Given the description of an element on the screen output the (x, y) to click on. 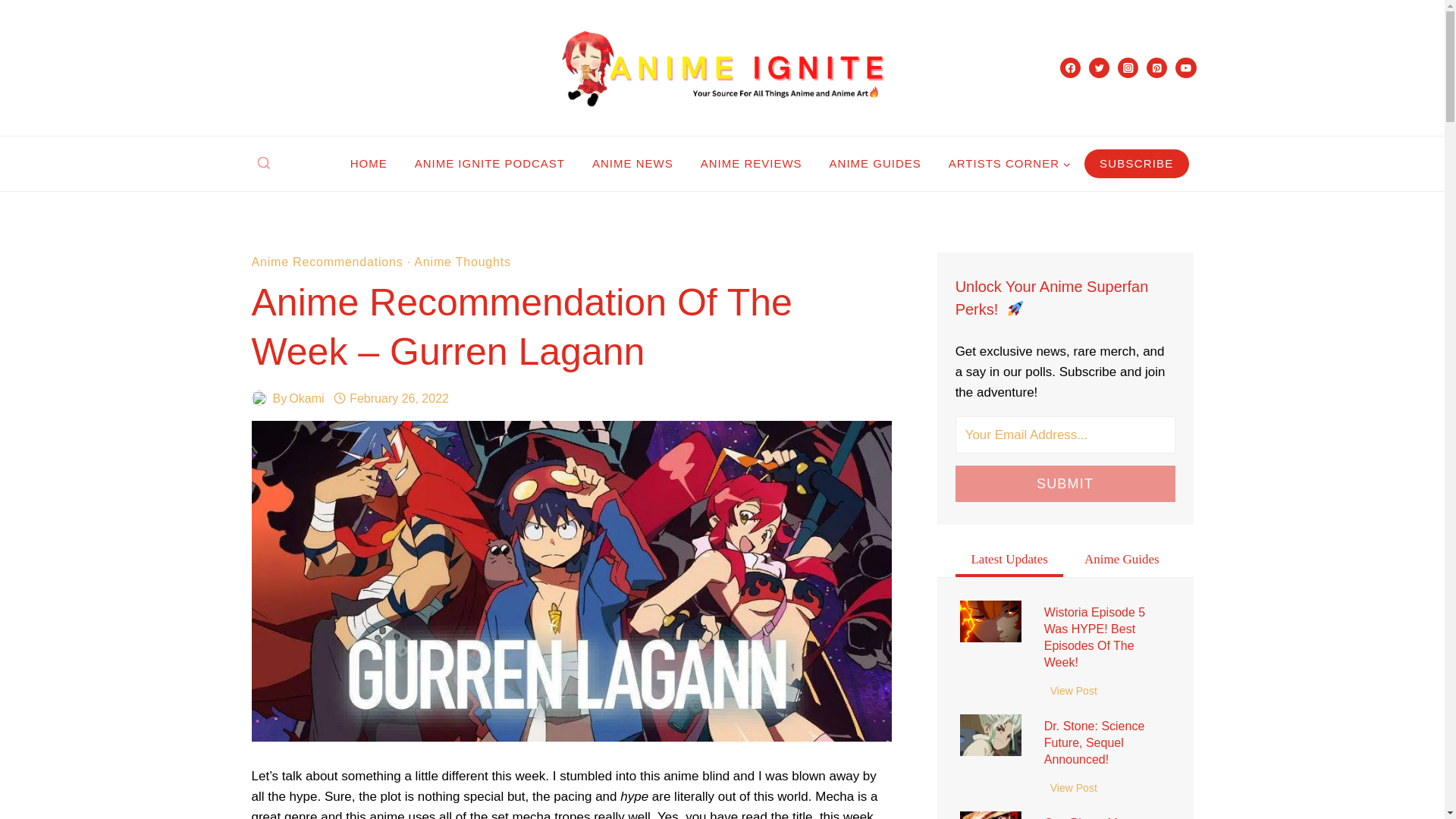
ARTISTS CORNER (1009, 163)
ANIME REVIEWS (751, 163)
ANIME IGNITE PODCAST (489, 163)
Anime Thoughts (462, 261)
ANIME GUIDES (874, 163)
HOME (368, 163)
Anime Recommendations (327, 261)
Okami (305, 398)
ANIME NEWS (632, 163)
SUBSCRIBE (1136, 163)
